Given the description of an element on the screen output the (x, y) to click on. 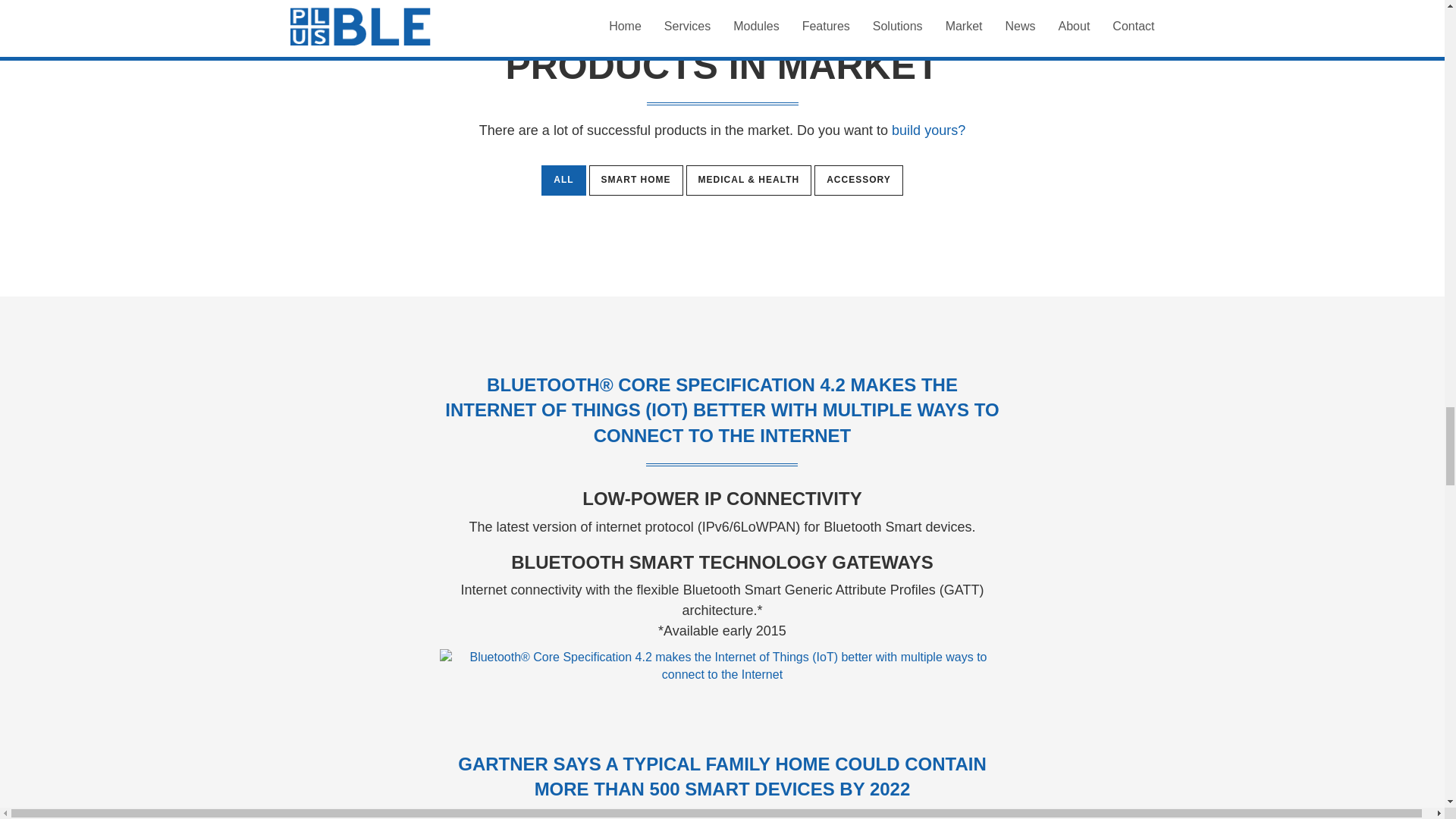
build yours? (928, 130)
build yours? (928, 130)
